Given the description of an element on the screen output the (x, y) to click on. 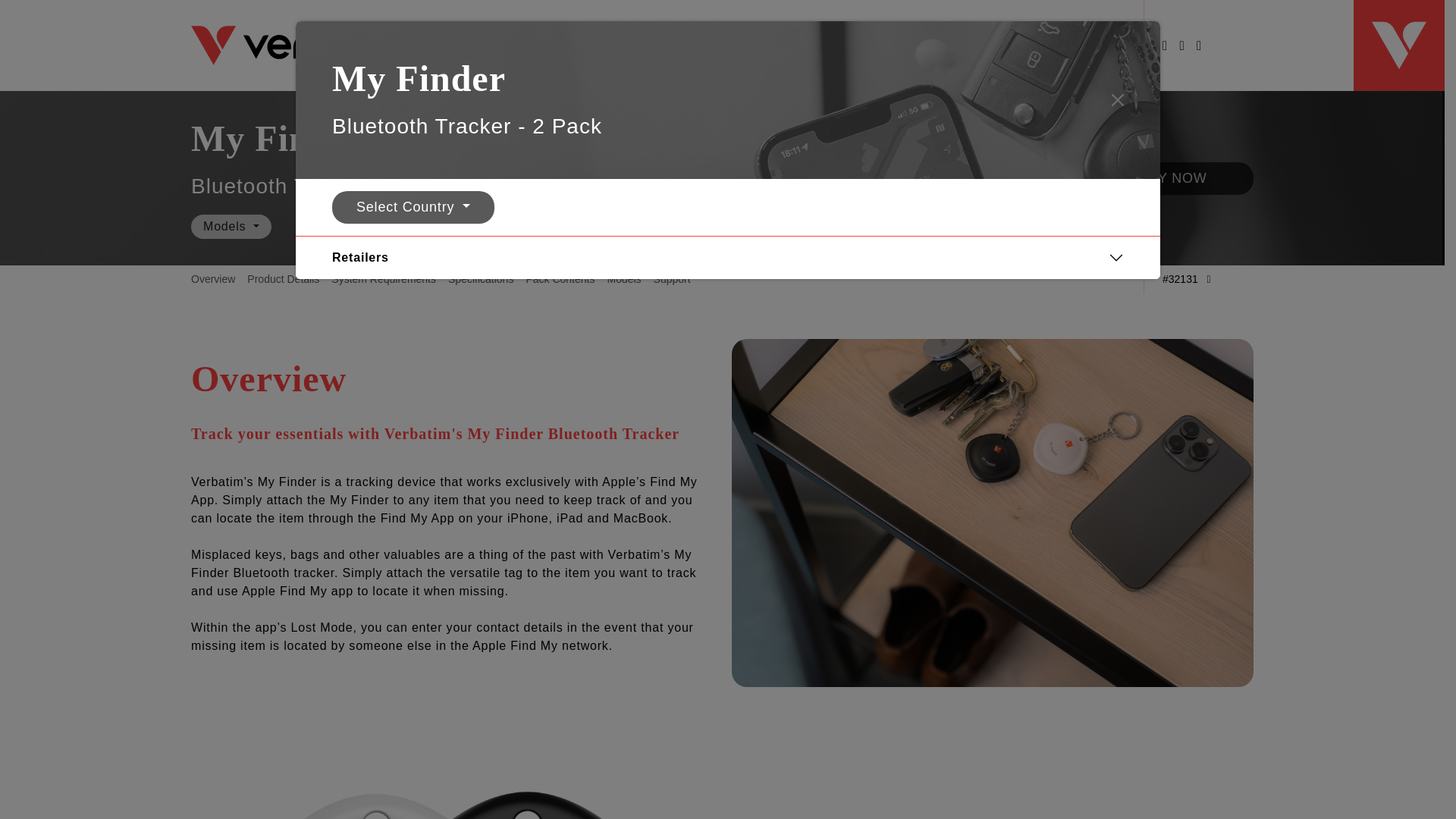
Verbatim (303, 44)
Products (965, 45)
Verbatim (1398, 45)
